Given the description of an element on the screen output the (x, y) to click on. 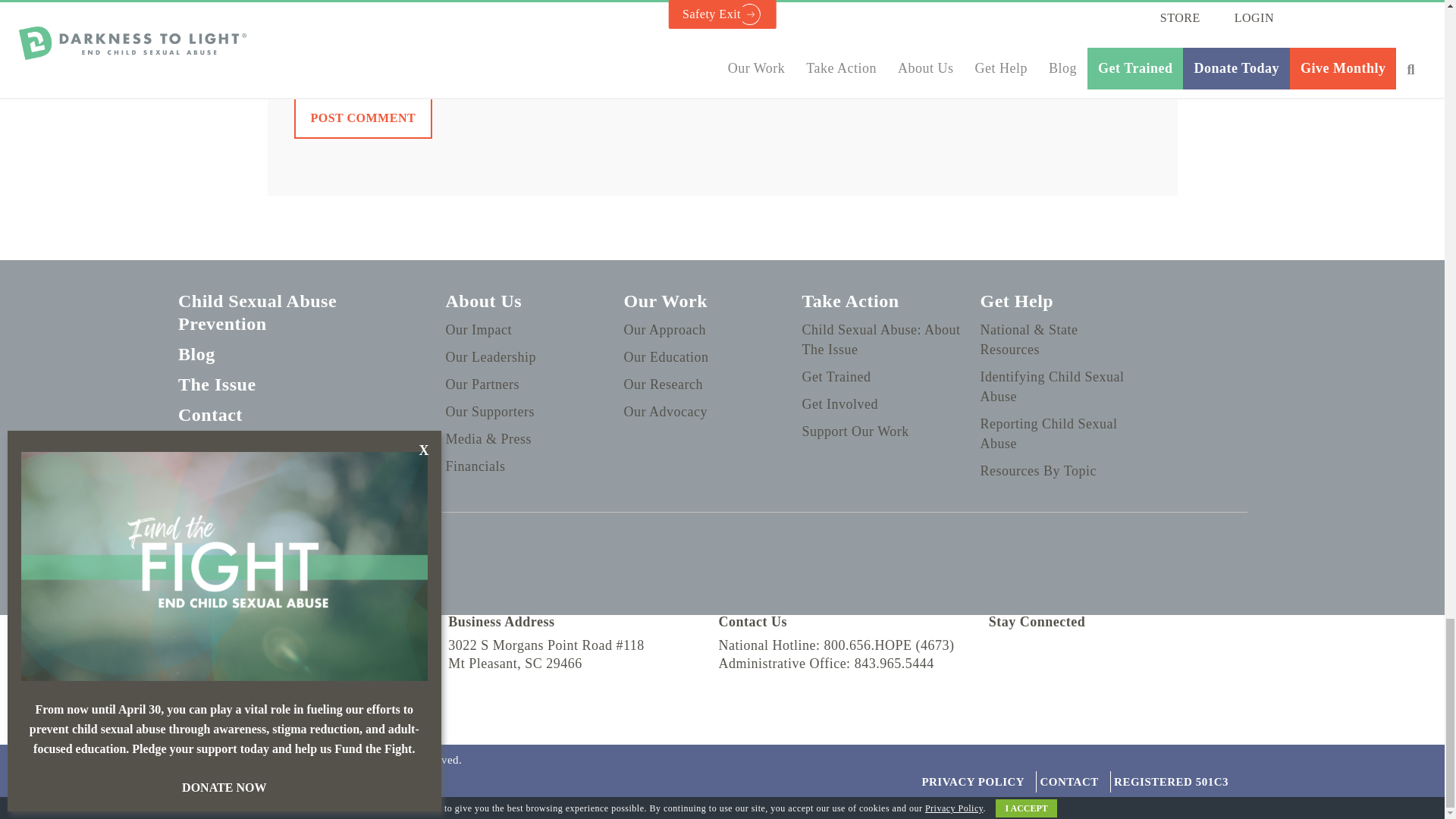
Post Comment (363, 117)
